Given the description of an element on the screen output the (x, y) to click on. 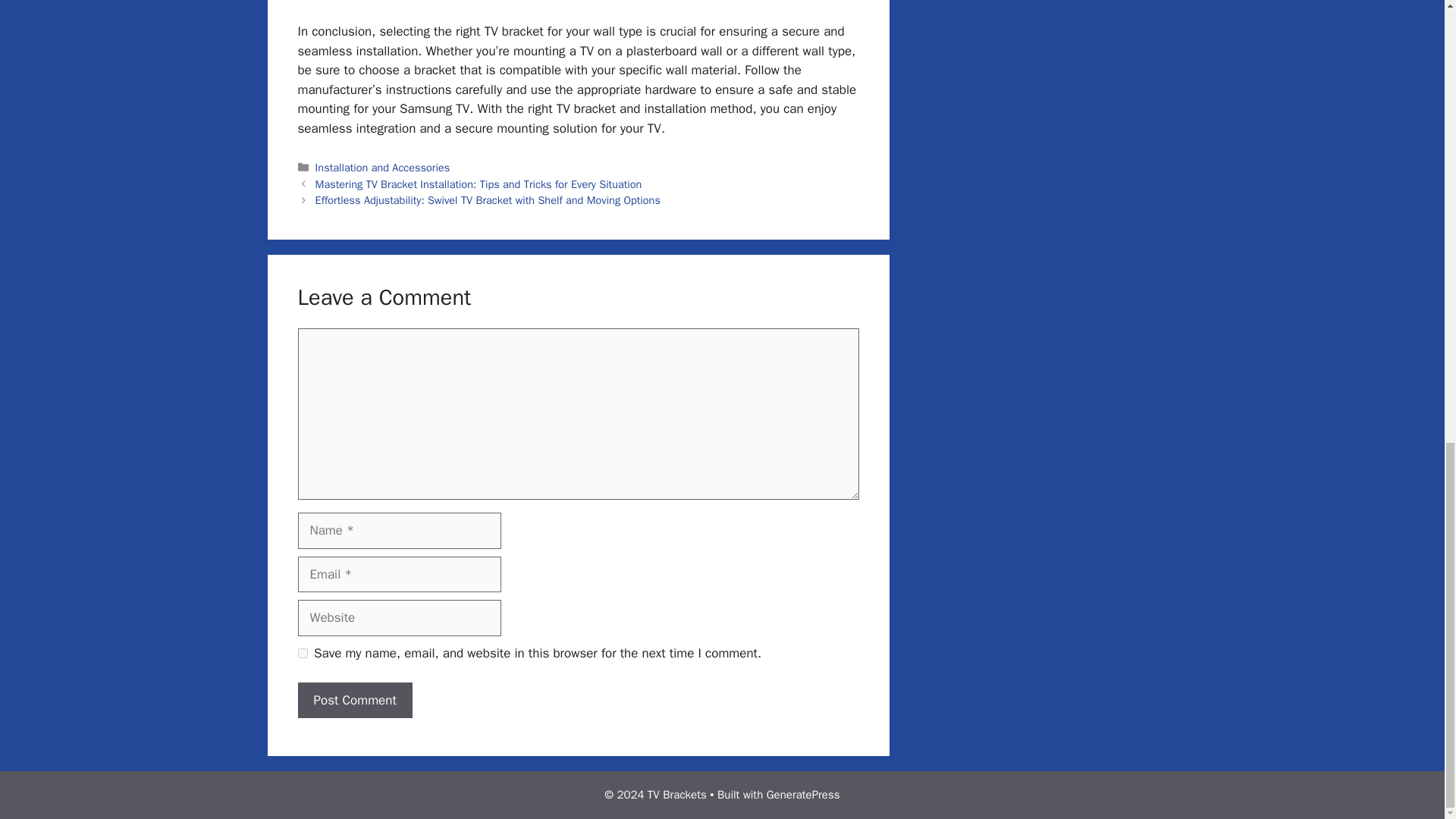
Post Comment (354, 700)
Post Comment (354, 700)
Installation and Accessories (382, 167)
GeneratePress (803, 794)
yes (302, 653)
